Given the description of an element on the screen output the (x, y) to click on. 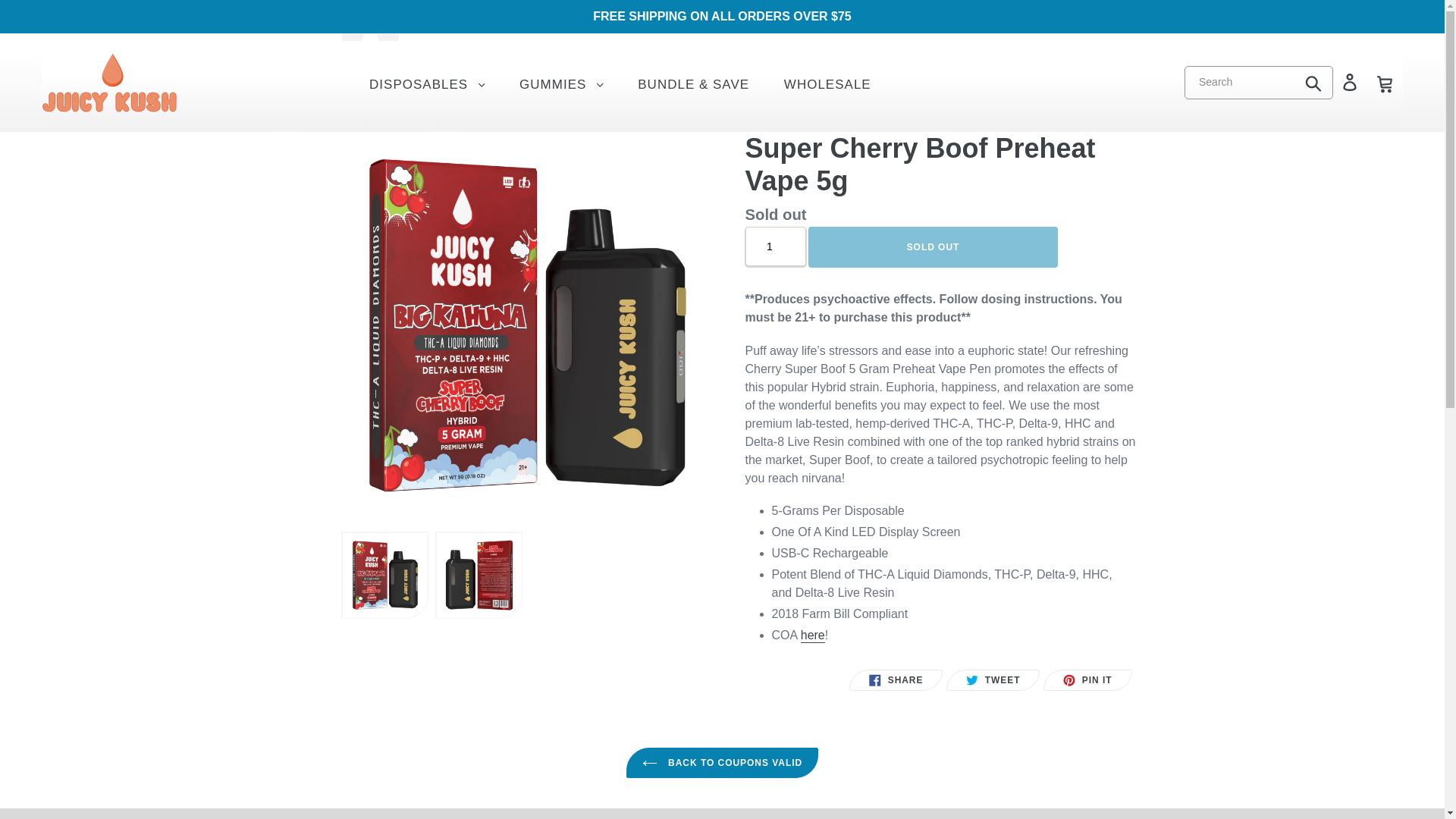
1 (774, 246)
Submit (1087, 680)
BACK TO COUPONS VALID (1314, 82)
here (992, 680)
SOLD OUT (722, 762)
Login (812, 635)
WHOLESALE (933, 247)
